Given the description of an element on the screen output the (x, y) to click on. 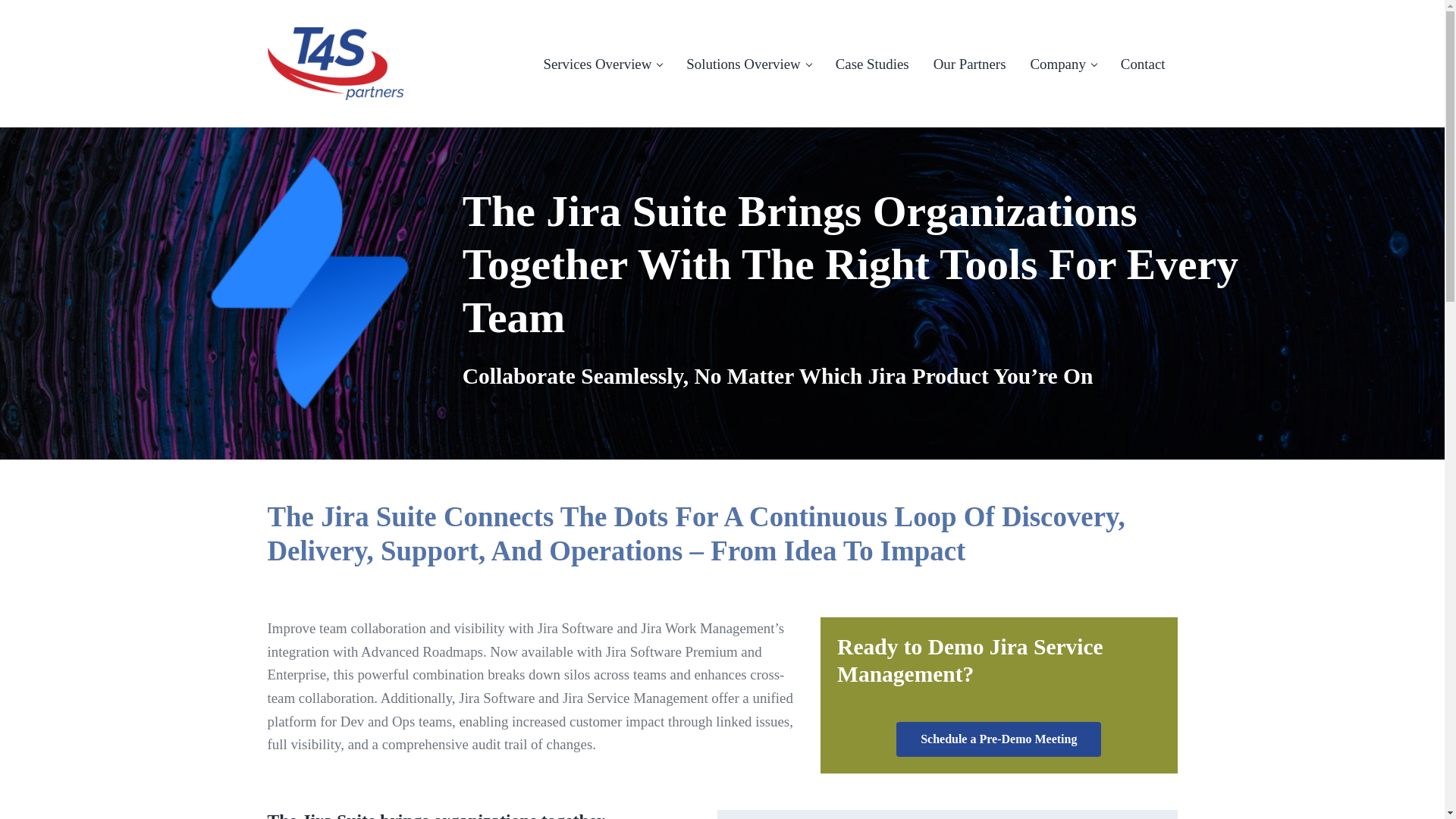
Solutions Overview (748, 64)
Services Overview (602, 64)
